Given the description of an element on the screen output the (x, y) to click on. 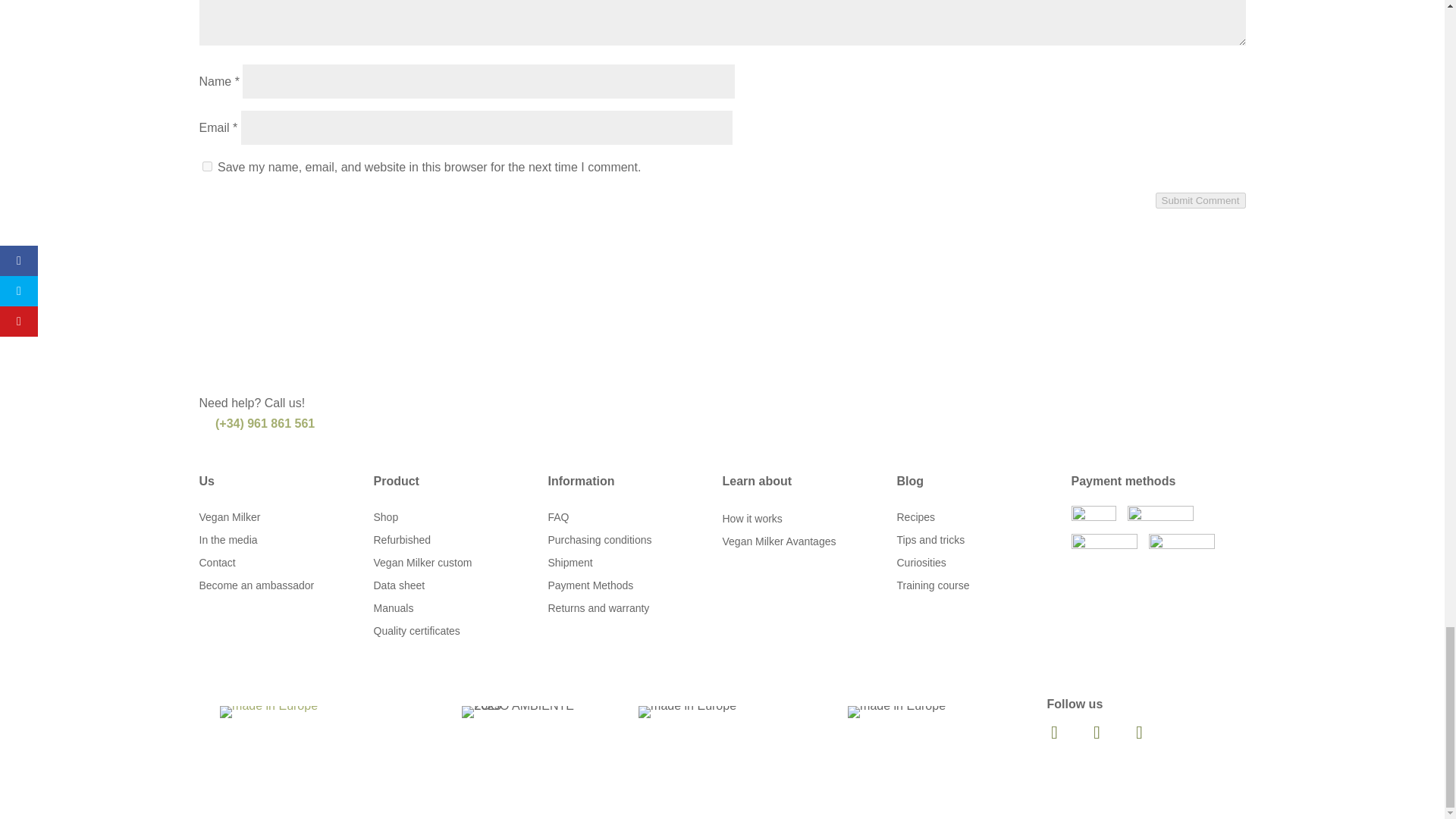
VEGAN MILKER- LOGO MADE IN EUROPE (687, 711)
yes (206, 166)
Follow on Youtube (1139, 732)
Follow on Instagram (1096, 732)
Follow on Facebook (1053, 732)
GARAMTIABPAPATENTE (895, 711)
generalitat (268, 711)
